Given the description of an element on the screen output the (x, y) to click on. 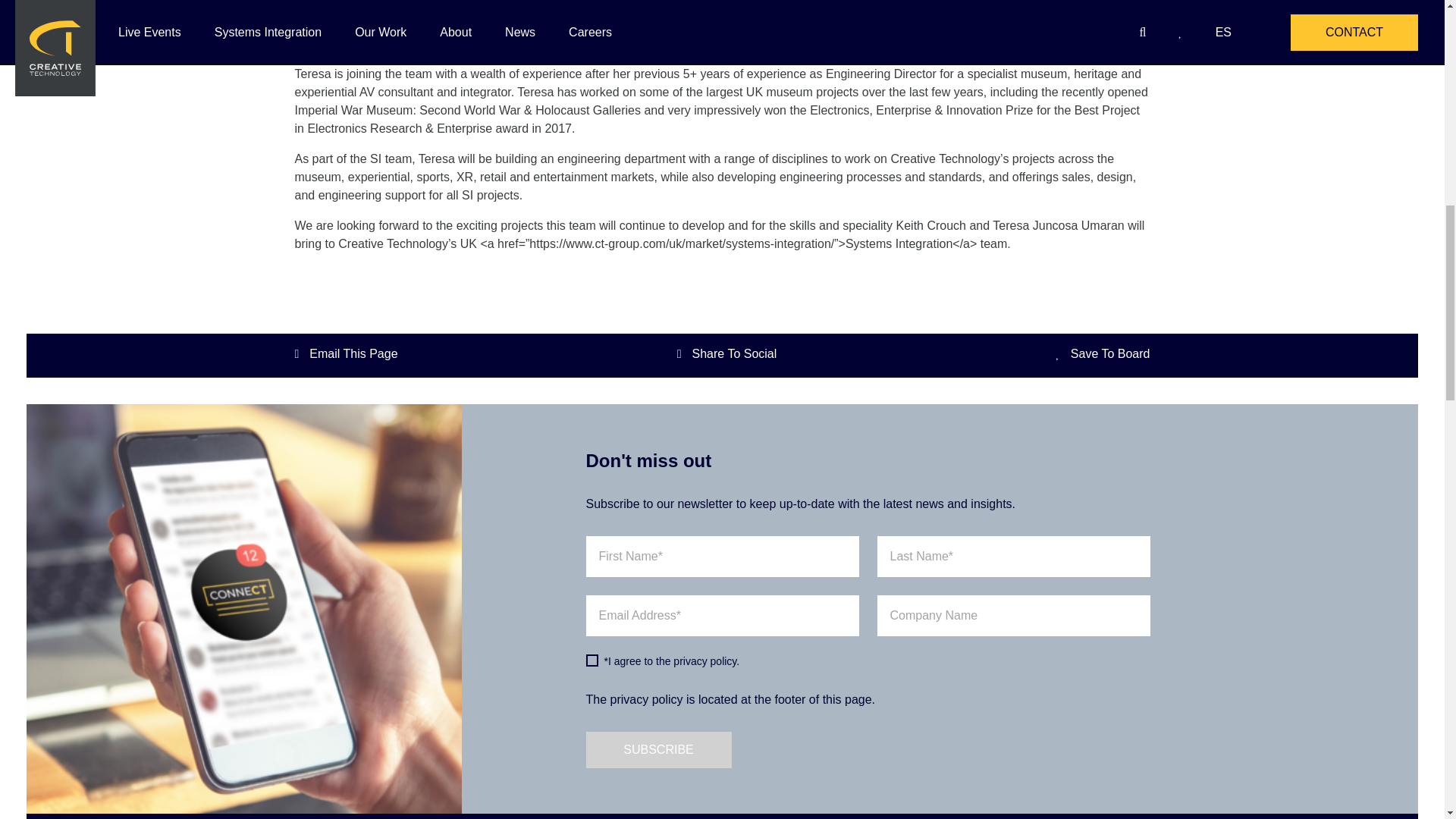
Subscribe (657, 750)
